Given the description of an element on the screen output the (x, y) to click on. 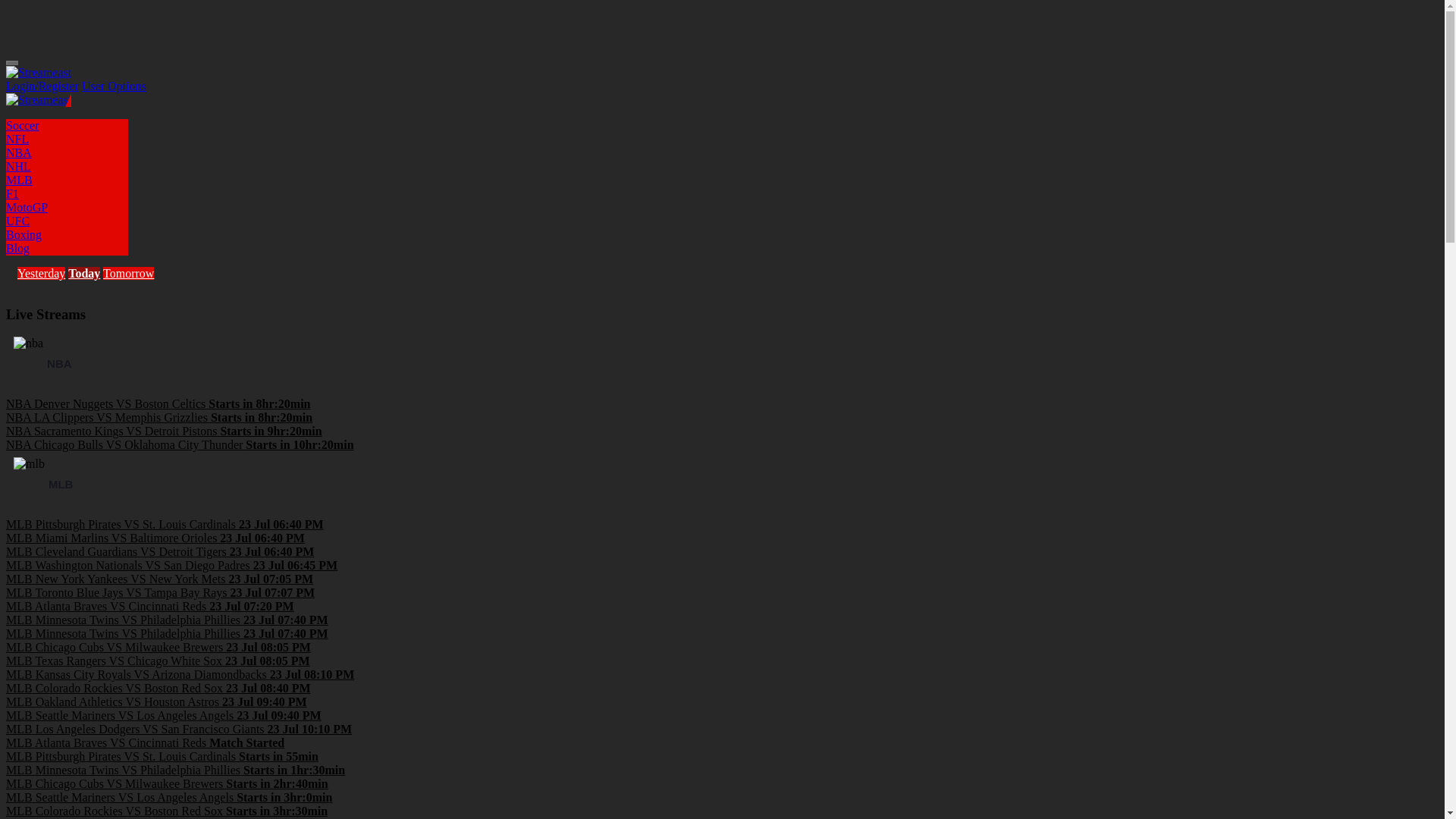
Yesterday (41, 273)
Boxing (23, 234)
NBA (18, 152)
Today (84, 273)
NBA LA Clippers VS Memphis Grizzlies Starts in 8hr:20min (159, 417)
MLB Cleveland Guardians VS Detroit Tigers 23 Jul 06:40 PM (159, 551)
MLB Washington Nationals VS San Diego Padres 23 Jul 06:45 PM (171, 564)
MLB Miami Marlins VS Baltimore Orioles 23 Jul 06:40 PM (154, 537)
MLB Minnesota Twins VS Philadelphia Phillies 23 Jul 07:40 PM (167, 633)
MLB Toronto Blue Jays VS Tampa Bay Rays 23 Jul 07:07 PM (159, 592)
NBA Denver Nuggets VS Boston Celtics Starts in 8hr:20min (158, 403)
MotoGP (26, 206)
MLB Chicago Cubs VS Milwaukee Brewers 23 Jul 08:05 PM (158, 646)
